Given the description of an element on the screen output the (x, y) to click on. 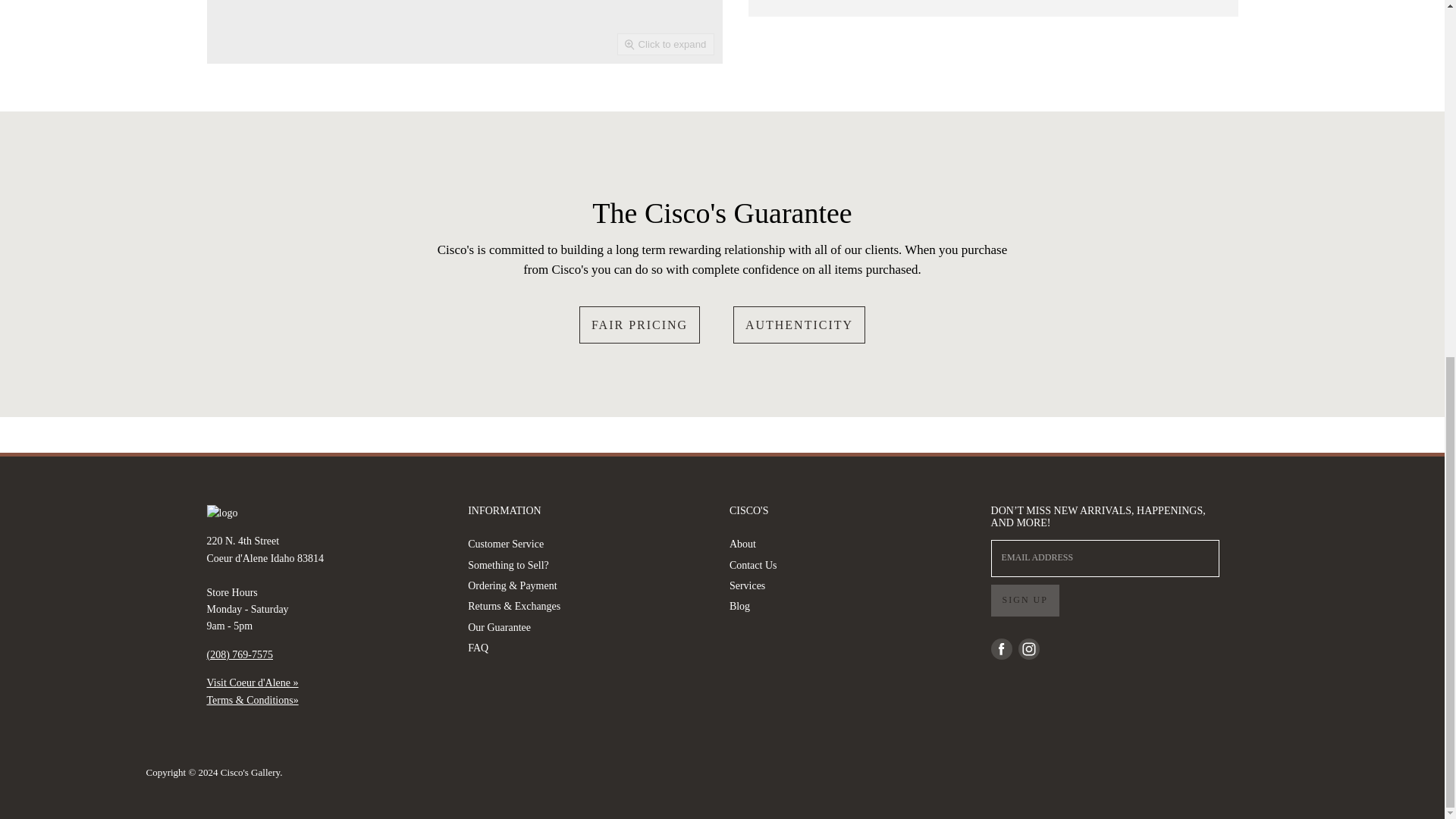
Facebook (1001, 648)
Instagram (1028, 648)
